Given the description of an element on the screen output the (x, y) to click on. 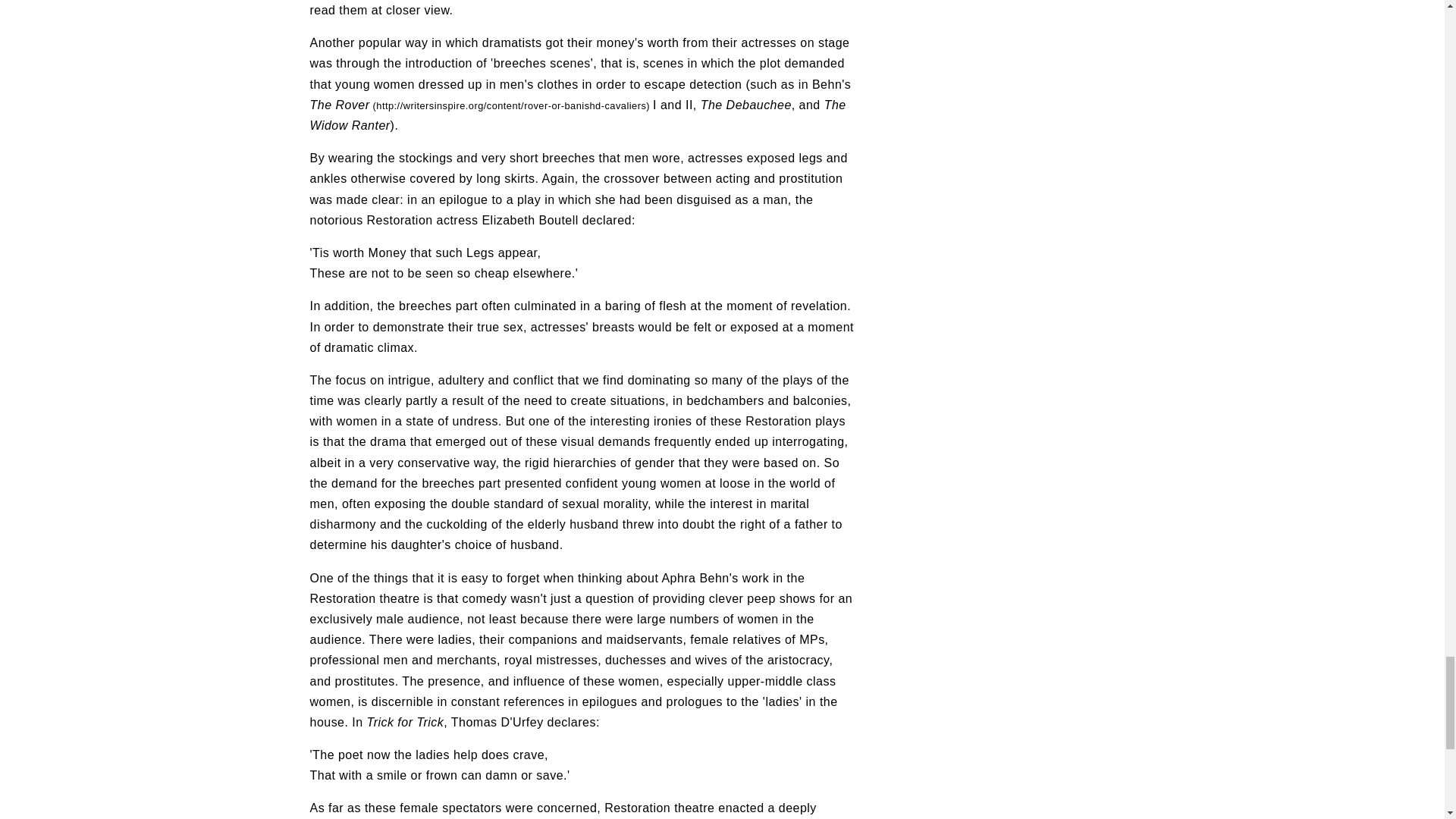
The Rover (480, 104)
